Given the description of an element on the screen output the (x, y) to click on. 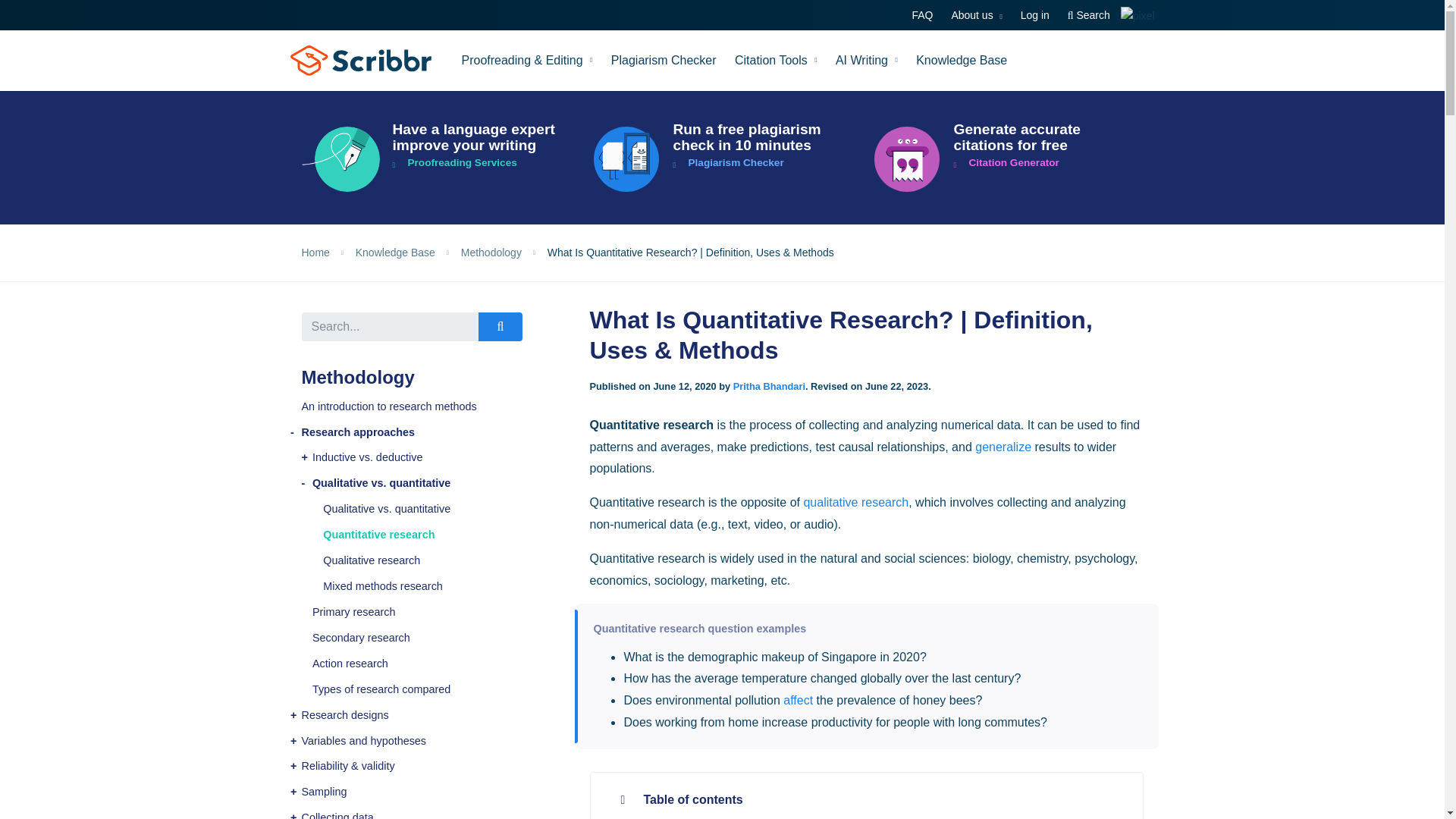
Citation Generator (1002, 159)
Search (1088, 15)
Citation Tools (775, 60)
FAQ (921, 15)
Do the check (722, 159)
About us (976, 15)
Plagiarism Checker (663, 60)
Log in (1034, 15)
